Given the description of an element on the screen output the (x, y) to click on. 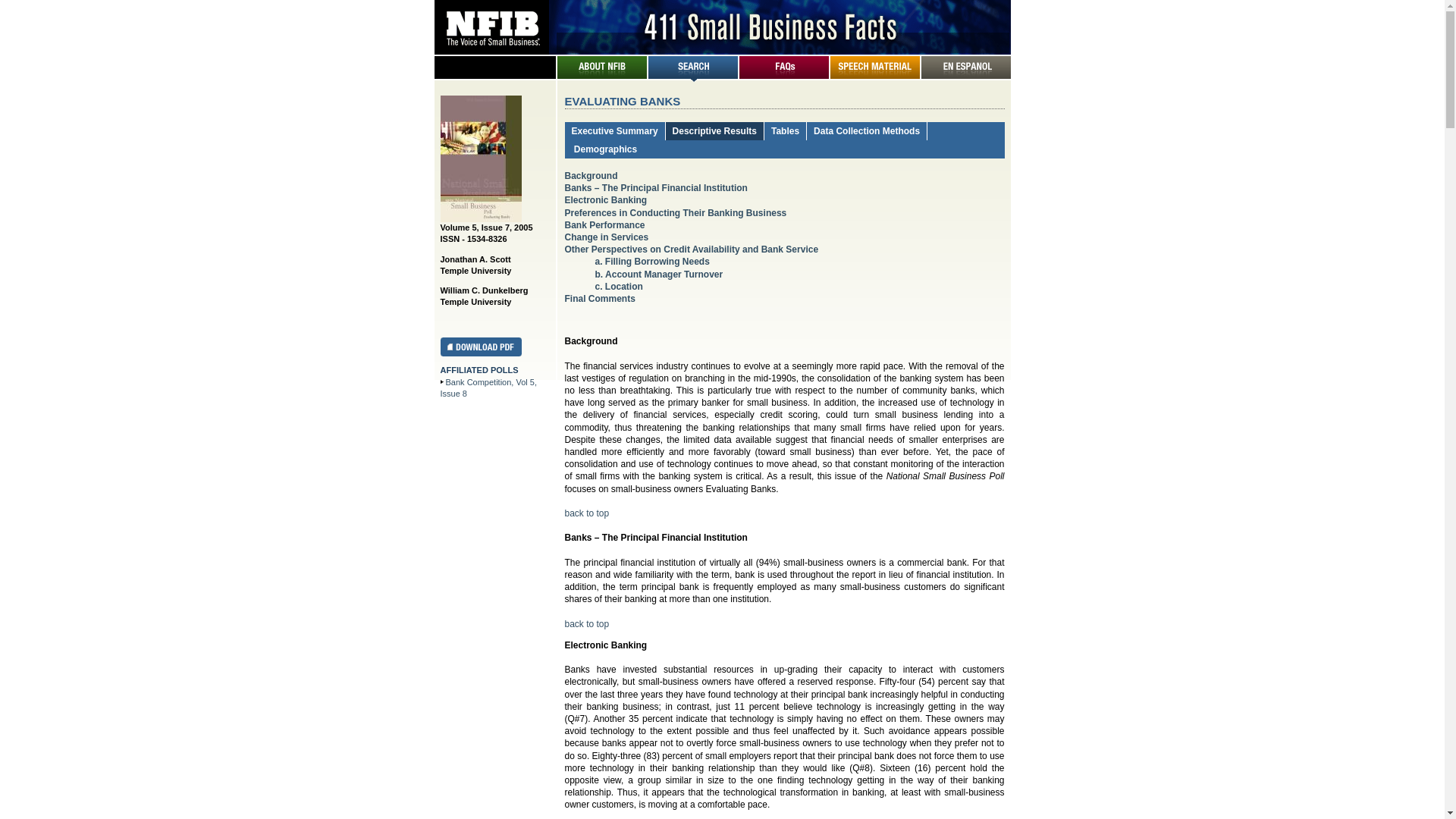
Electronic Banking Element type: text (605, 199)
 Demographics Element type: text (604, 149)
Background Element type: text (590, 175)
Bank Competition, Vol 5, Issue 8 Element type: text (487, 387)
back to top Element type: text (586, 513)
back to top Element type: text (586, 623)
Executive Summary Element type: text (614, 130)
About NFIB Element type: hover (600, 75)
b. Account Manager Turnover Element type: text (657, 274)
Download a PDF of this report Element type: hover (479, 352)
Preferences in Conducting Their Banking Business Element type: text (675, 212)
Data Collection Methods Element type: text (866, 130)
Other Perspectives on Credit Availability and Bank Service Element type: text (691, 249)
Speech Material Element type: hover (873, 75)
Descriptive Results Element type: text (714, 130)
Change in Services Element type: text (606, 237)
Frequently Asked Questions Element type: hover (782, 75)
Search Element type: hover (691, 75)
Return to the NFIB home page Element type: hover (721, 47)
Final Comments Element type: text (599, 298)
c. Location Element type: text (619, 286)
Bank Performance Element type: text (604, 224)
a. Filling Borrowing Needs Element type: text (652, 261)
Tables Element type: text (785, 130)
